Given the description of an element on the screen output the (x, y) to click on. 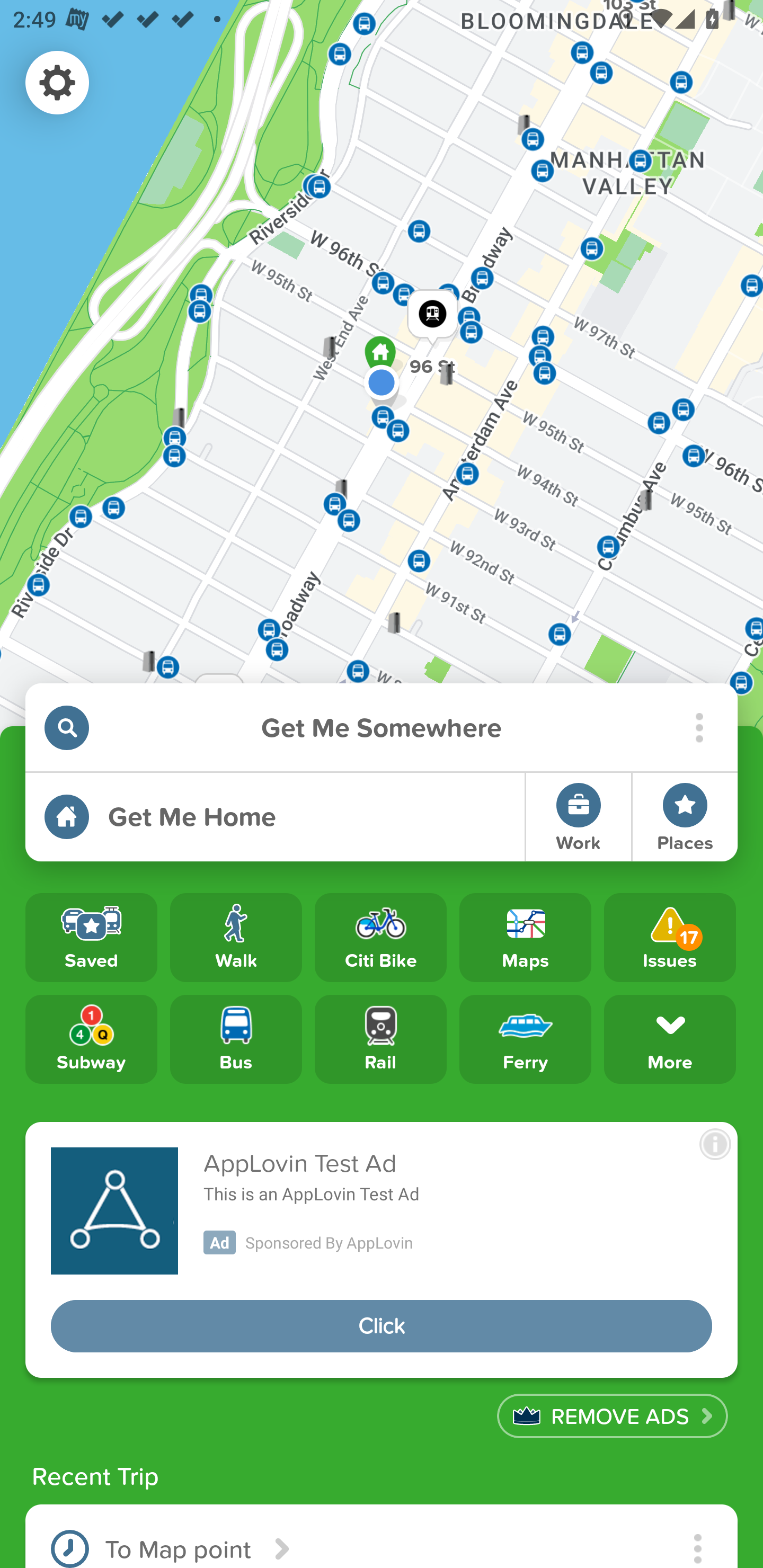
Subway (91, 1038)
